Given the description of an element on the screen output the (x, y) to click on. 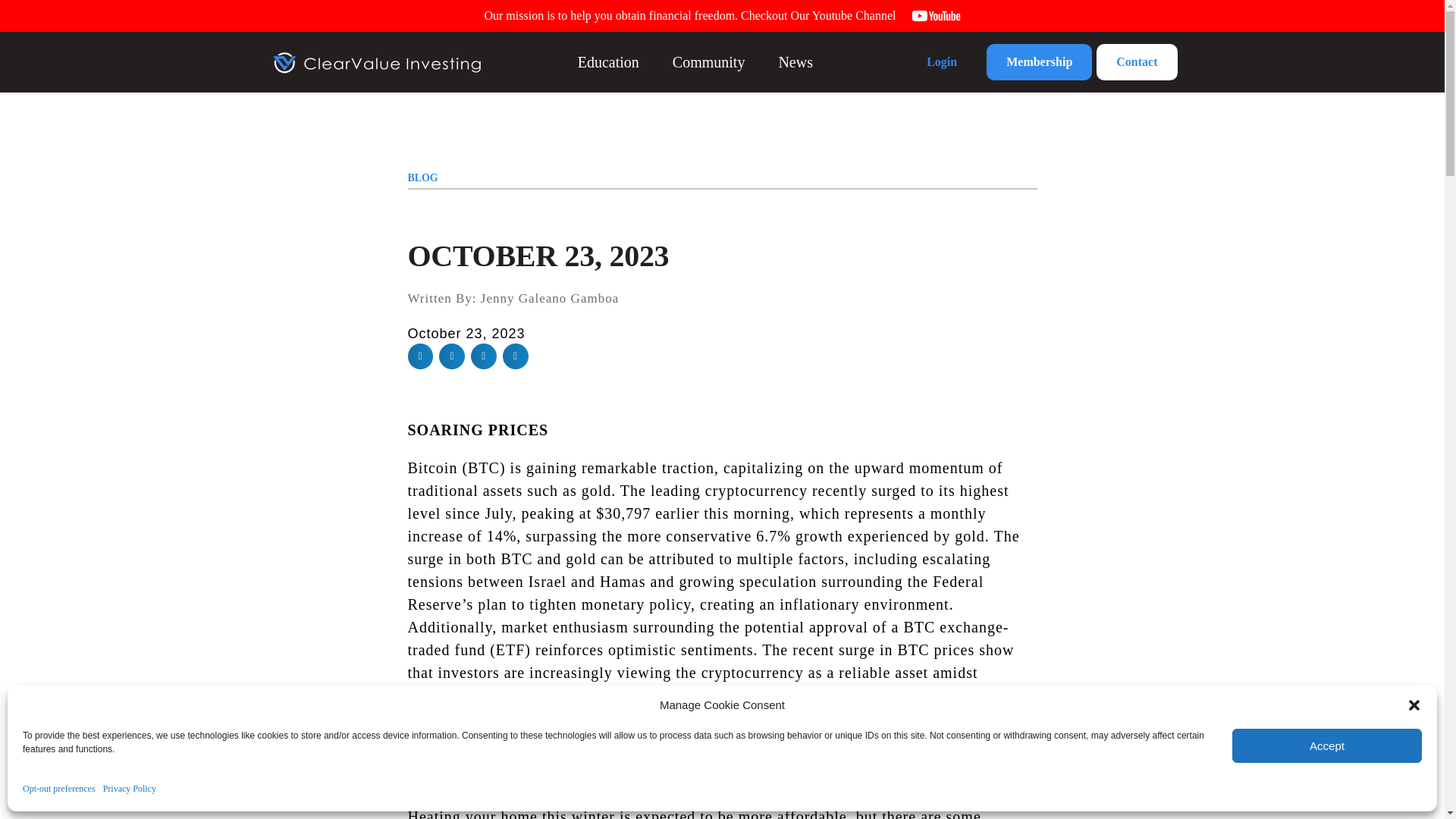
Membership (1039, 62)
Privacy Policy (129, 789)
Login (941, 62)
Contact (1136, 62)
Education (608, 61)
Accept (1326, 745)
Community (708, 61)
Opt-out preferences (59, 789)
